Given the description of an element on the screen output the (x, y) to click on. 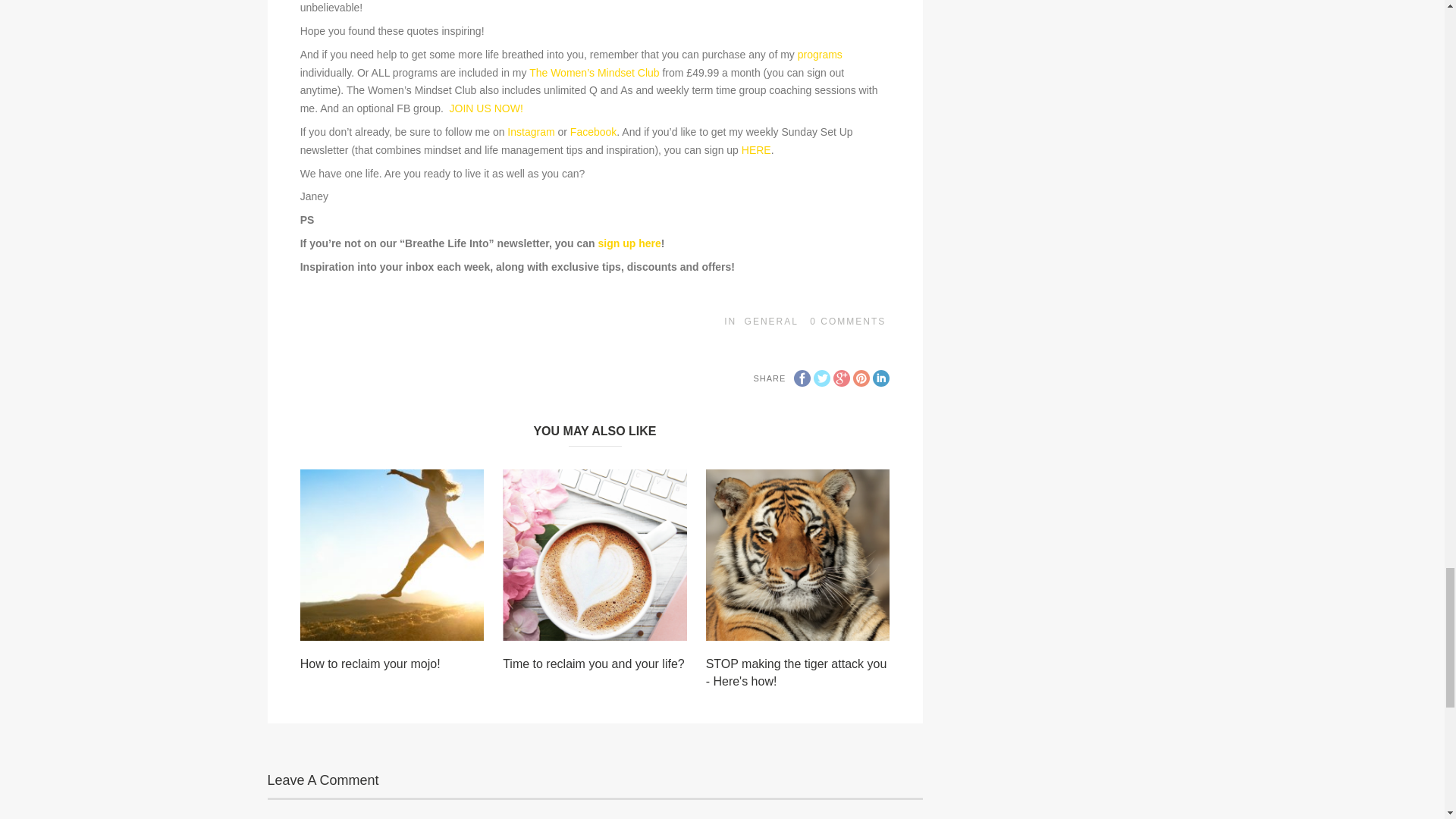
programs (820, 54)
LinkedIn (880, 378)
Facebook (801, 378)
Facebook (592, 132)
Pinterest (861, 378)
Twitter (821, 378)
HERE (756, 150)
Instagram (530, 132)
JOIN US NOW! (485, 108)
sign up here (629, 243)
